Given the description of an element on the screen output the (x, y) to click on. 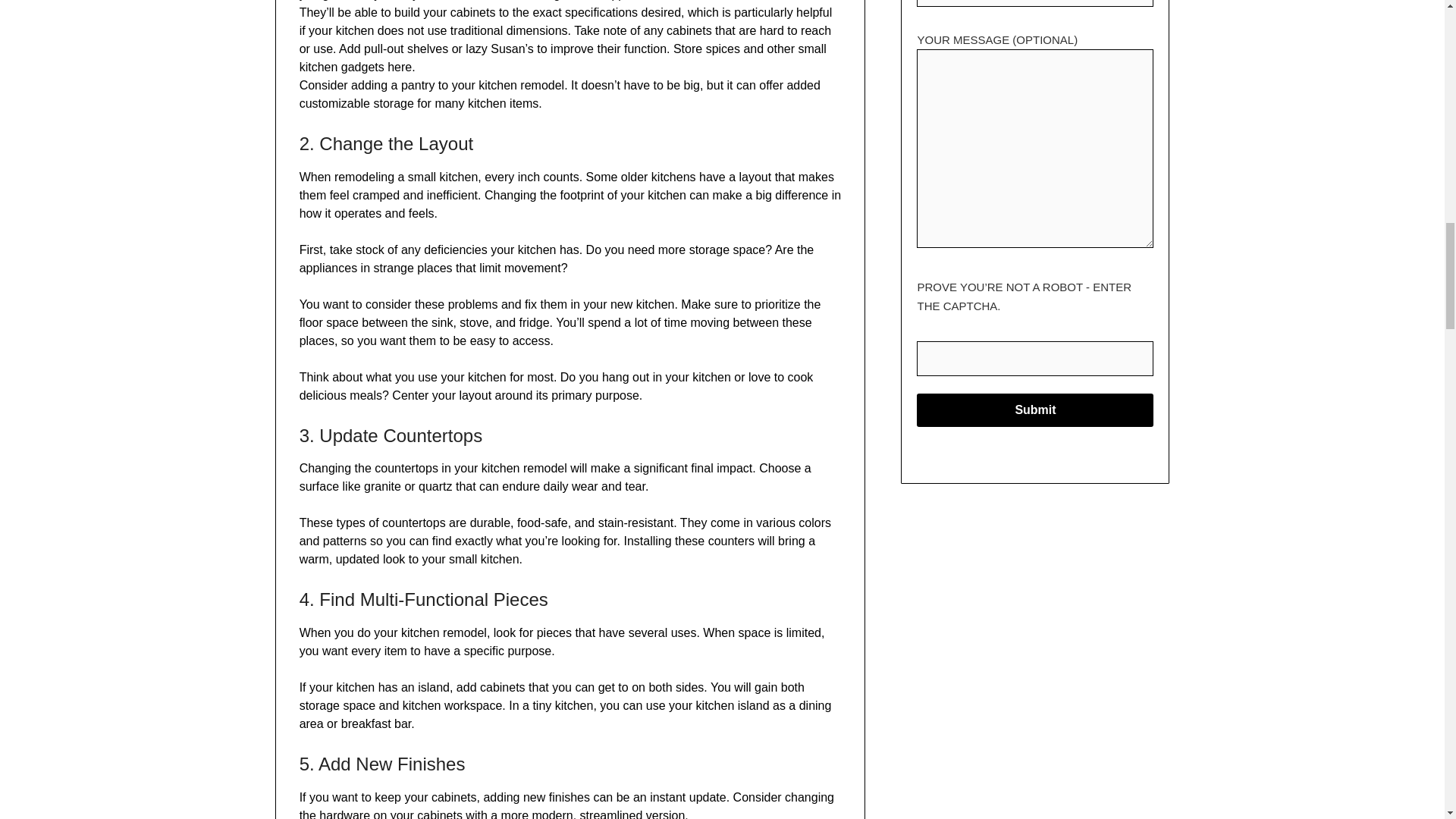
Submit (1035, 409)
Submit (1035, 409)
